Given the description of an element on the screen output the (x, y) to click on. 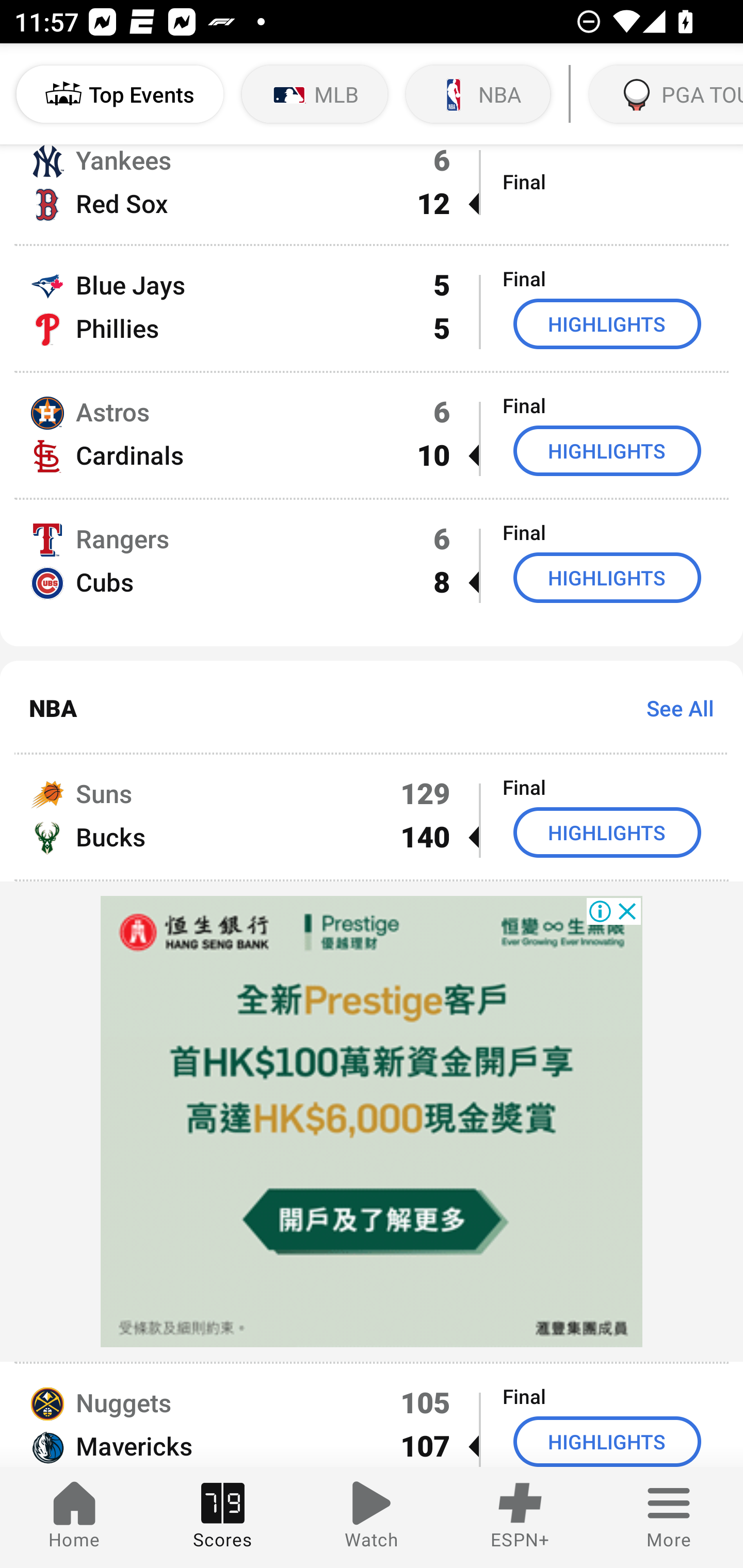
 Top Events (119, 93)
MLB (314, 93)
NBA (477, 93)
PGA TOUR (664, 93)
Yankees 6 Red Sox 12  Final (371, 194)
Blue Jays 5 Final Phillies 5 HIGHLIGHTS (371, 308)
HIGHLIGHTS (607, 323)
Astros 6 Final Cardinals 10  HIGHLIGHTS (371, 435)
HIGHLIGHTS (607, 450)
Rangers 6 Final Cubs 8  HIGHLIGHTS (371, 573)
HIGHLIGHTS (607, 577)
NBA See All (371, 707)
See All (673, 707)
Suns 129 Final Bucks 140  HIGHLIGHTS (371, 816)
HIGHLIGHTS (607, 832)
Advertisement (371, 1121)
Nuggets 105 Final Mavericks 107  HIGHLIGHTS (371, 1415)
HIGHLIGHTS (607, 1441)
Home (74, 1517)
Watch (371, 1517)
ESPN+ (519, 1517)
More (668, 1517)
